Given the description of an element on the screen output the (x, y) to click on. 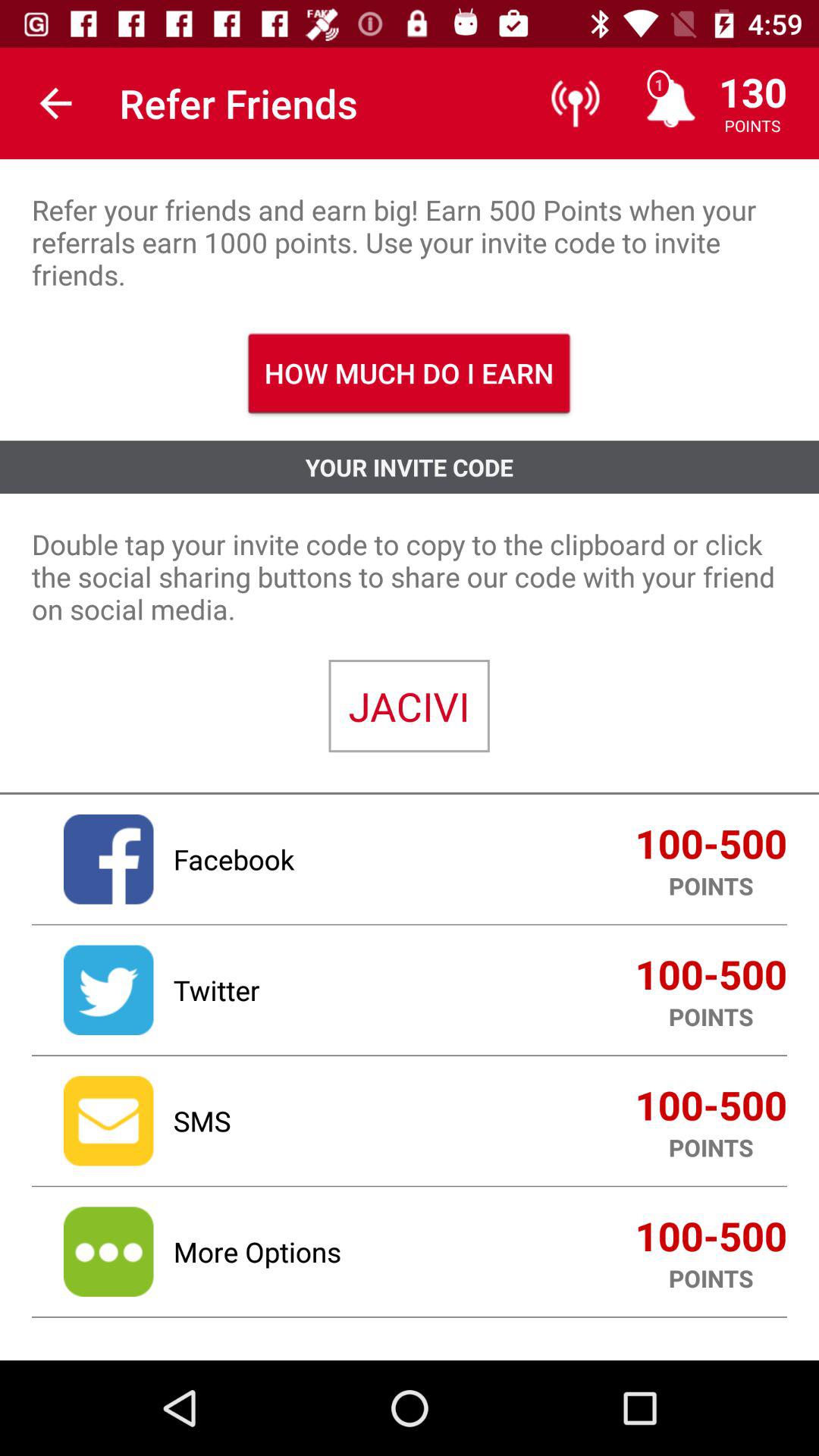
choose the item below the refer your friends item (408, 372)
